Given the description of an element on the screen output the (x, y) to click on. 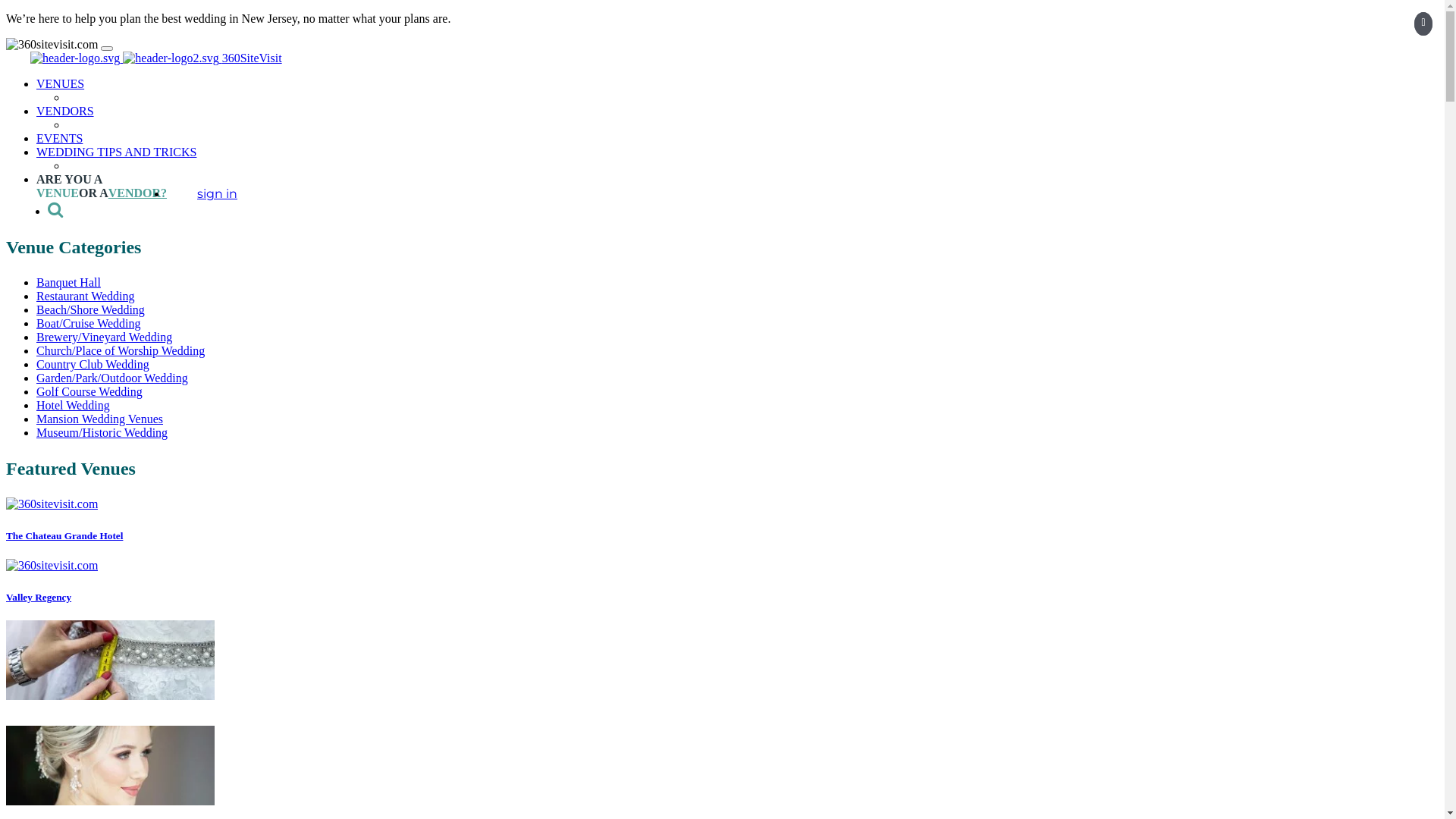
Brewery/Vineyard Wedding Element type: text (104, 336)
Garden/Park/Outdoor Wedding Element type: text (112, 377)
Restaurant Wedding Element type: text (85, 295)
Church/Place of Worship Wedding Element type: text (120, 350)
VENDORS Element type: text (65, 110)
VENUES Element type: text (60, 83)
Hotel Wedding Element type: text (72, 404)
Boat/Cruise Wedding Element type: text (88, 322)
Valley Regency Element type: text (38, 596)
WEDDING TIPS AND TRICKS Element type: text (116, 151)
Country Club Wedding Element type: text (92, 363)
VENUE Element type: text (57, 193)
Banquet Hall Element type: text (68, 282)
360SiteVisit Element type: text (156, 57)
sign in Element type: text (216, 193)
Beach/Shore Wedding Element type: text (90, 309)
Golf Course Wedding Element type: text (89, 391)
VENDOR? Element type: text (137, 193)
Museum/Historic Wedding Element type: text (101, 432)
EVENTS Element type: text (59, 137)
Mansion Wedding Venues Element type: text (99, 418)
The Chateau Grande Hotel Element type: text (64, 535)
